Given the description of an element on the screen output the (x, y) to click on. 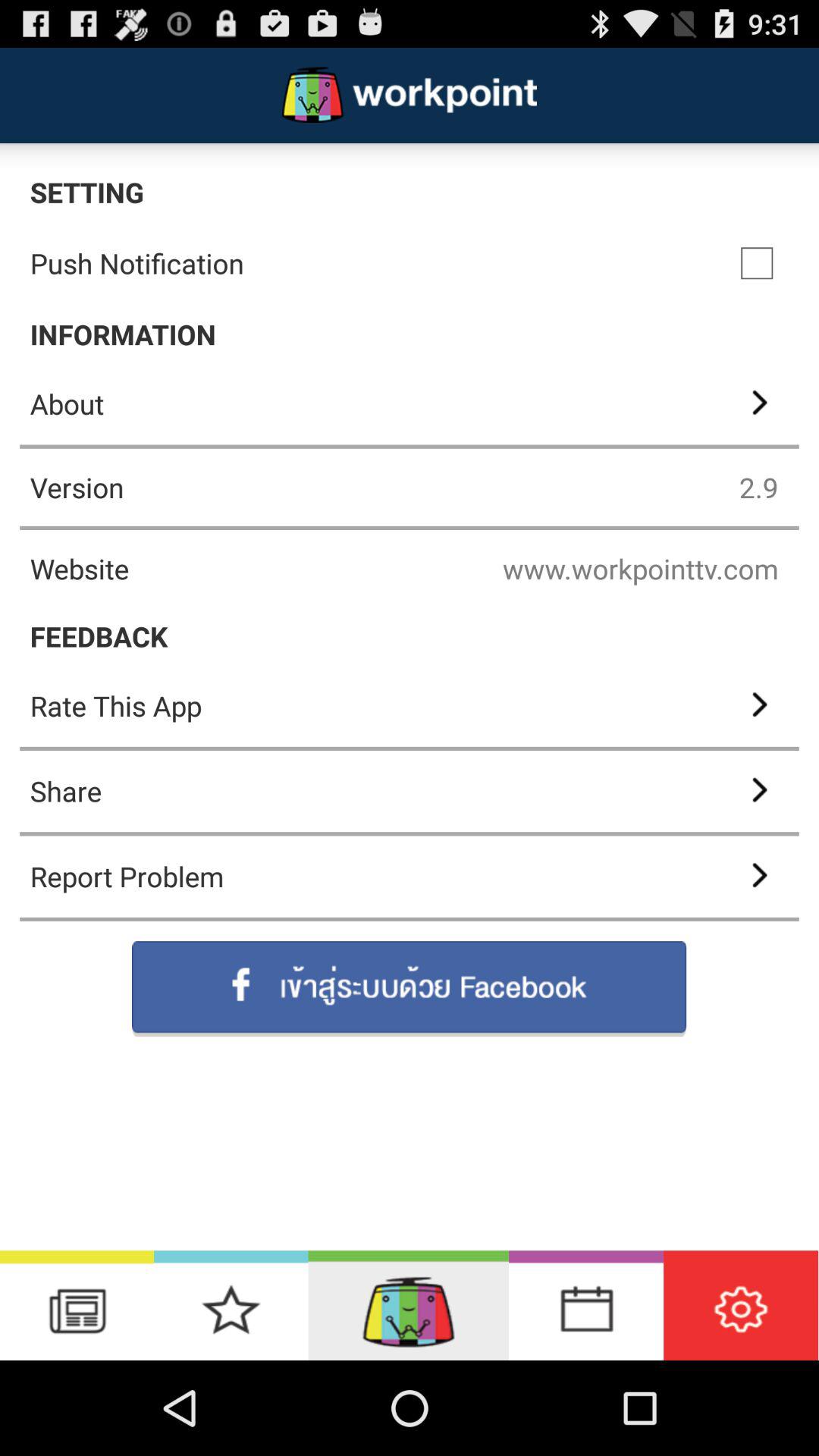
go to favorites (231, 1305)
